Given the description of an element on the screen output the (x, y) to click on. 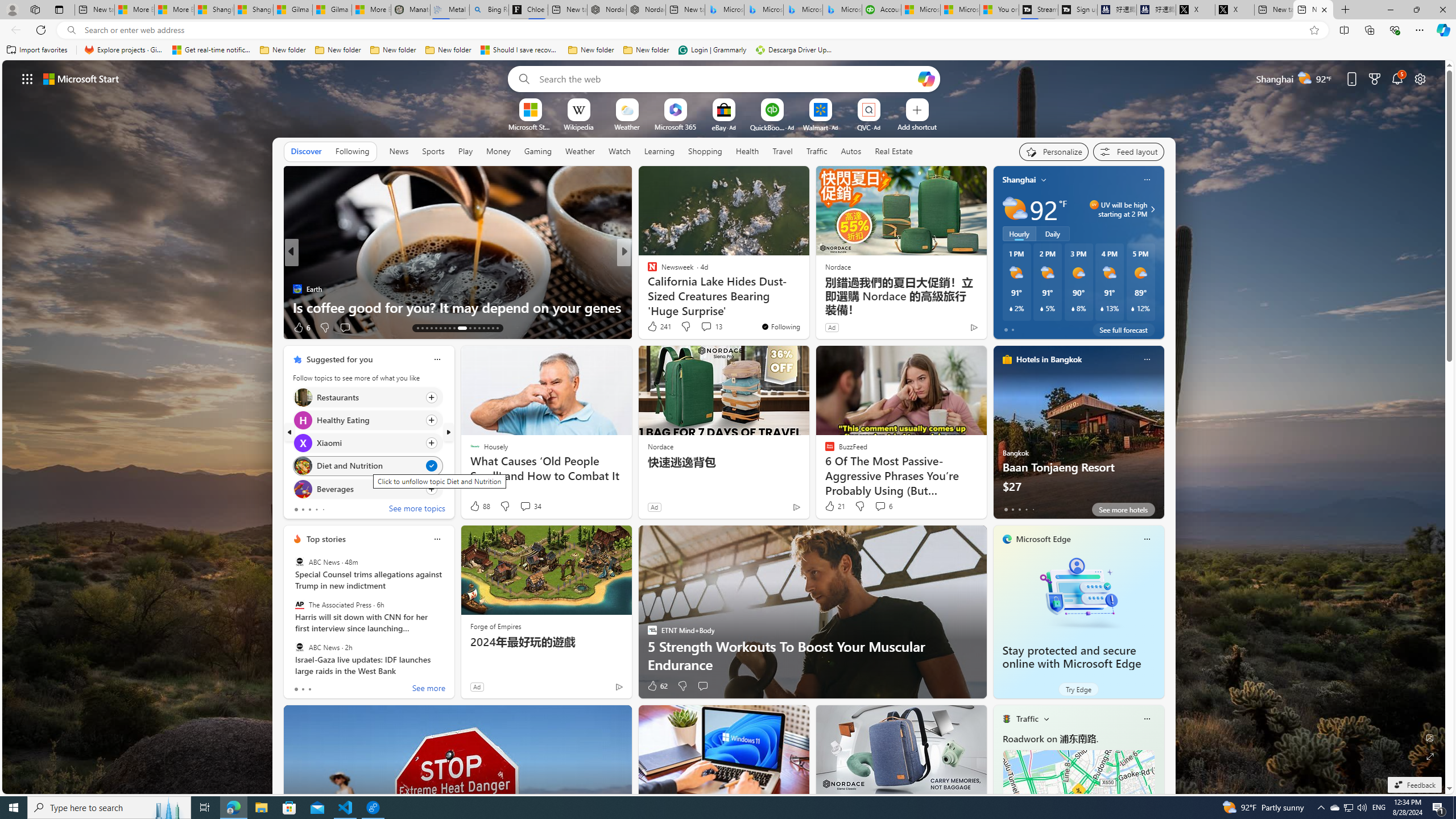
Dislike (682, 685)
Autos (850, 151)
Play (465, 151)
Click to follow topic Beverages (367, 488)
241 Like (658, 326)
Weather (579, 151)
More options (1146, 718)
Collections (1369, 29)
View comments 5 Comment (698, 327)
Search (520, 78)
News (398, 151)
AutomationID: tab-18 (440, 328)
Add this page to favorites (Ctrl+D) (1314, 29)
Minimize (1390, 9)
AutomationID: tab-24 (474, 328)
